Given the description of an element on the screen output the (x, y) to click on. 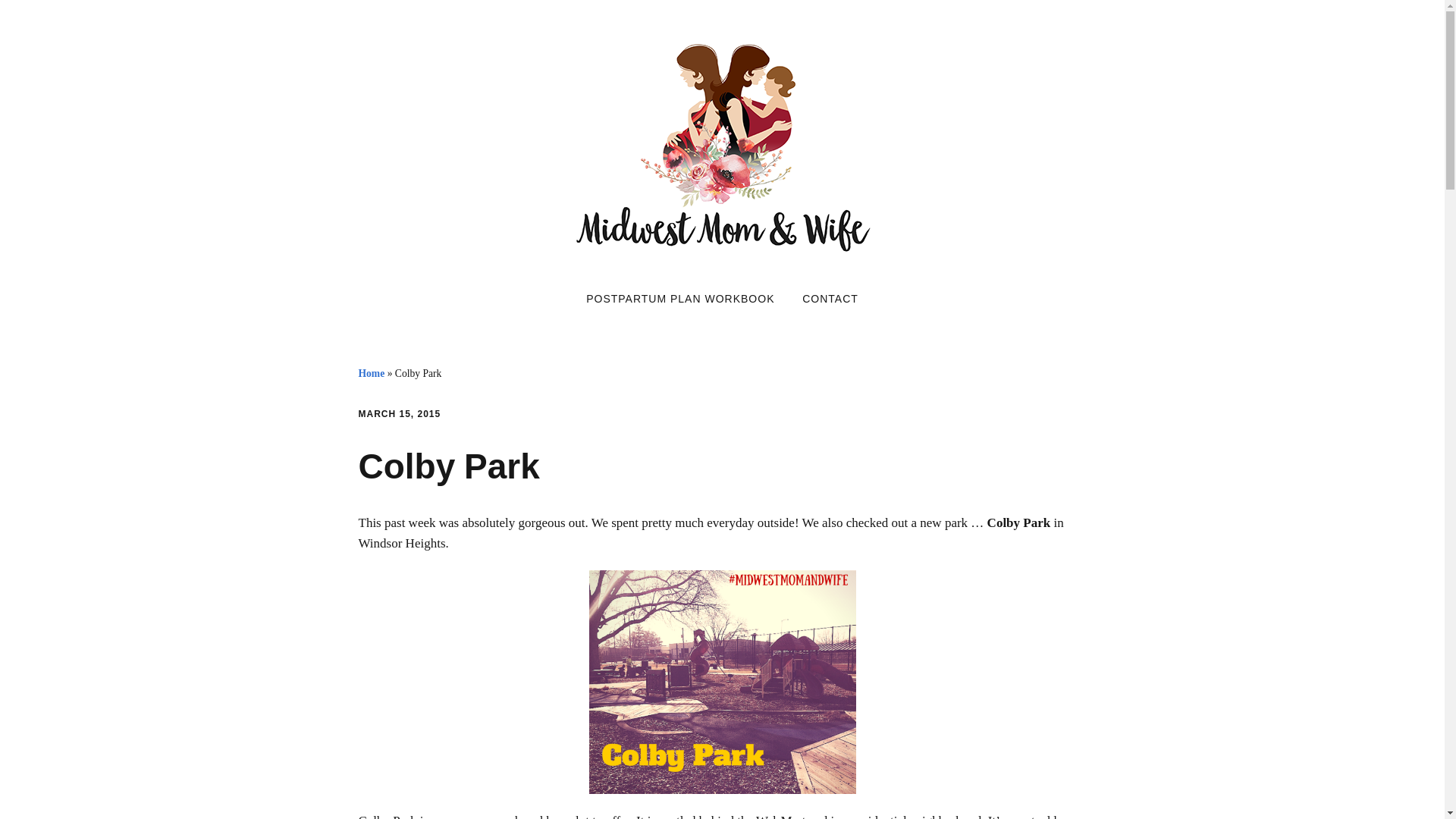
POSTPARTUM PLAN WORKBOOK (679, 299)
Home (371, 373)
CONTACT (830, 299)
